Given the description of an element on the screen output the (x, y) to click on. 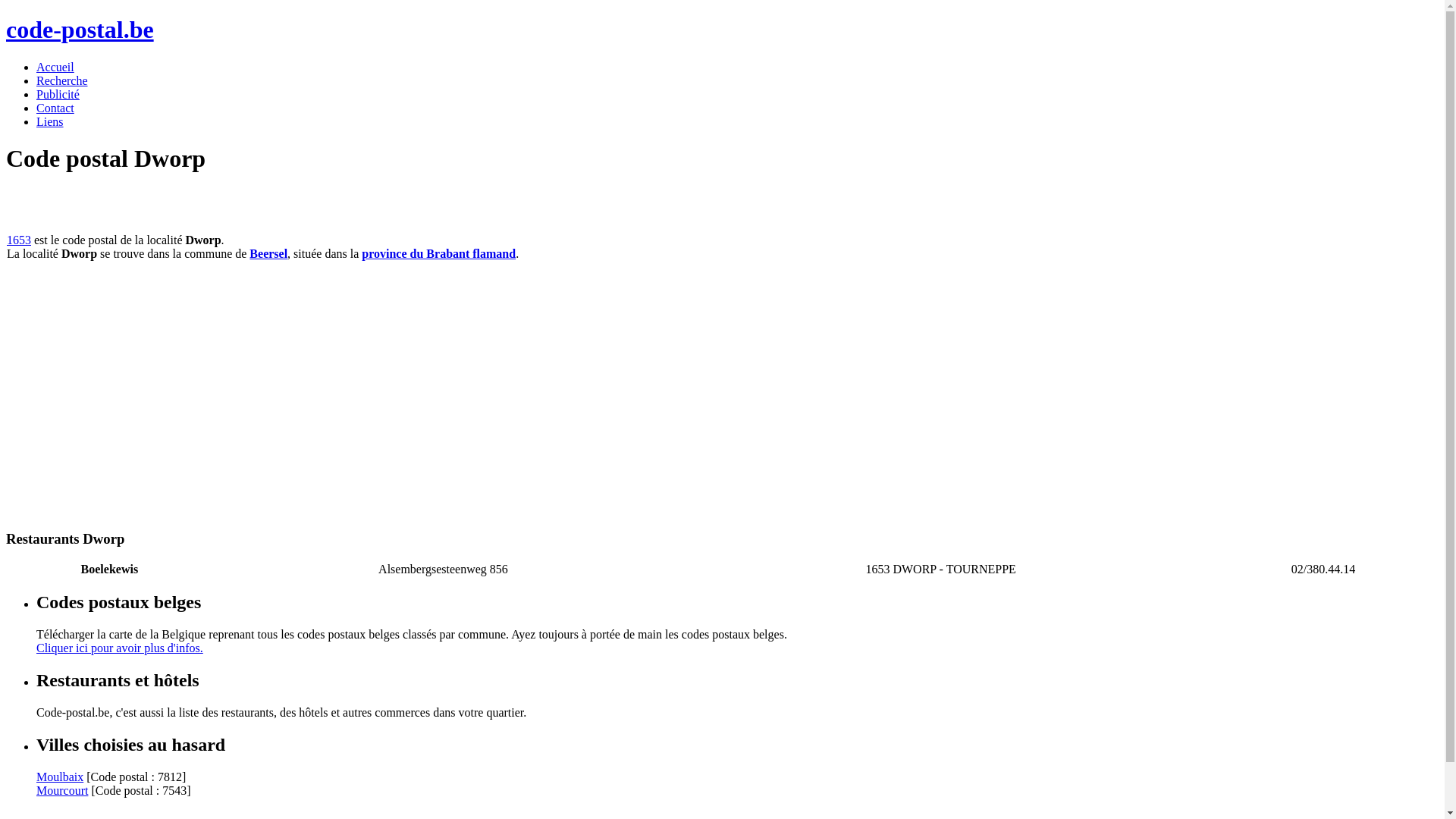
Liens Element type: text (49, 121)
province du Brabant flamand Element type: text (438, 253)
Advertisement Element type: hover (461, 410)
Moulbaix Element type: text (59, 776)
code-postal.be Element type: text (79, 29)
Mourcourt Element type: text (61, 790)
Recherche Element type: text (61, 80)
Accueil Element type: text (55, 66)
Cliquer ici pour avoir plus d'infos. Element type: text (119, 647)
Contact Element type: text (55, 107)
Beersel Element type: text (268, 253)
1653 Element type: text (18, 239)
